Given the description of an element on the screen output the (x, y) to click on. 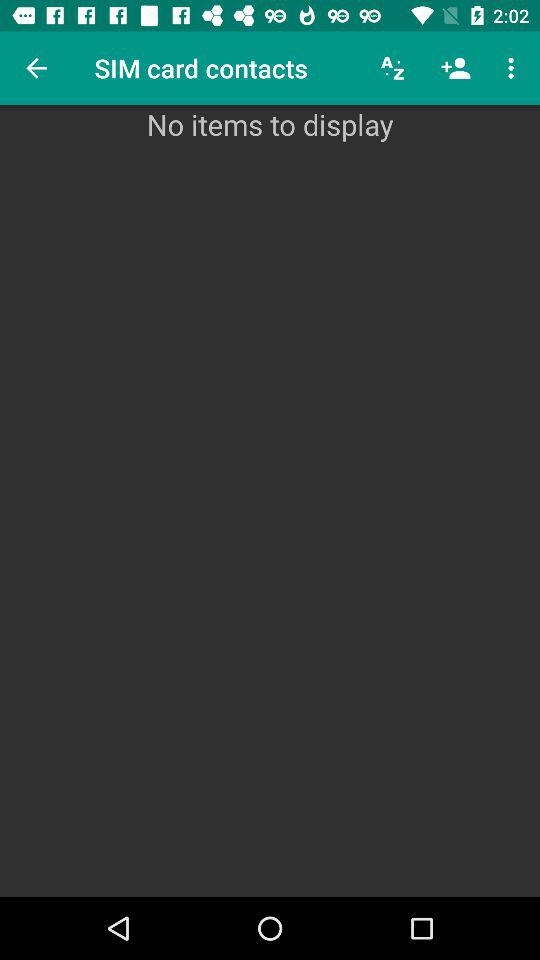
click the icon above the no items to item (36, 68)
